Given the description of an element on the screen output the (x, y) to click on. 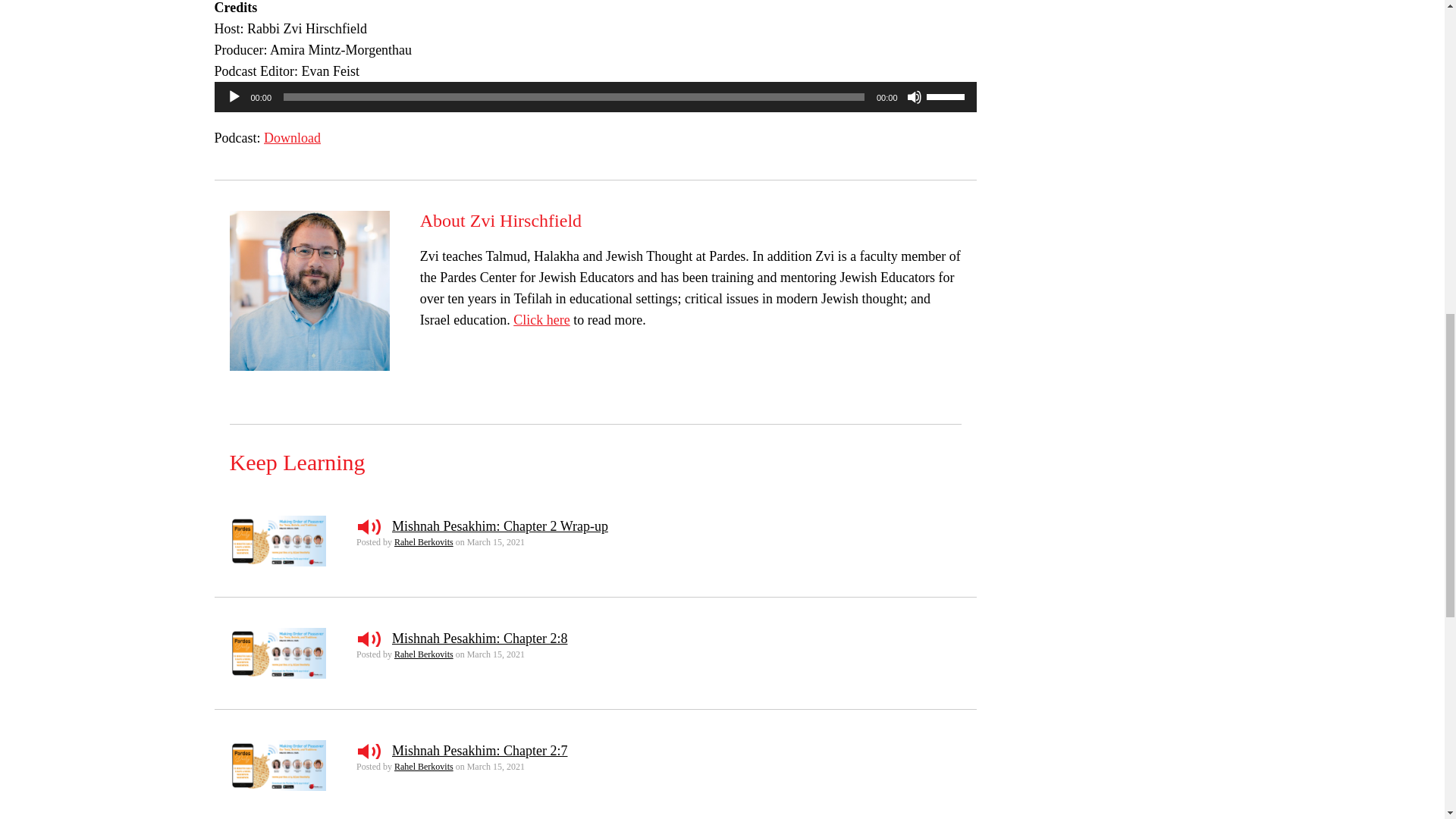
Mute (914, 96)
Play (233, 96)
Download (291, 137)
